Given the description of an element on the screen output the (x, y) to click on. 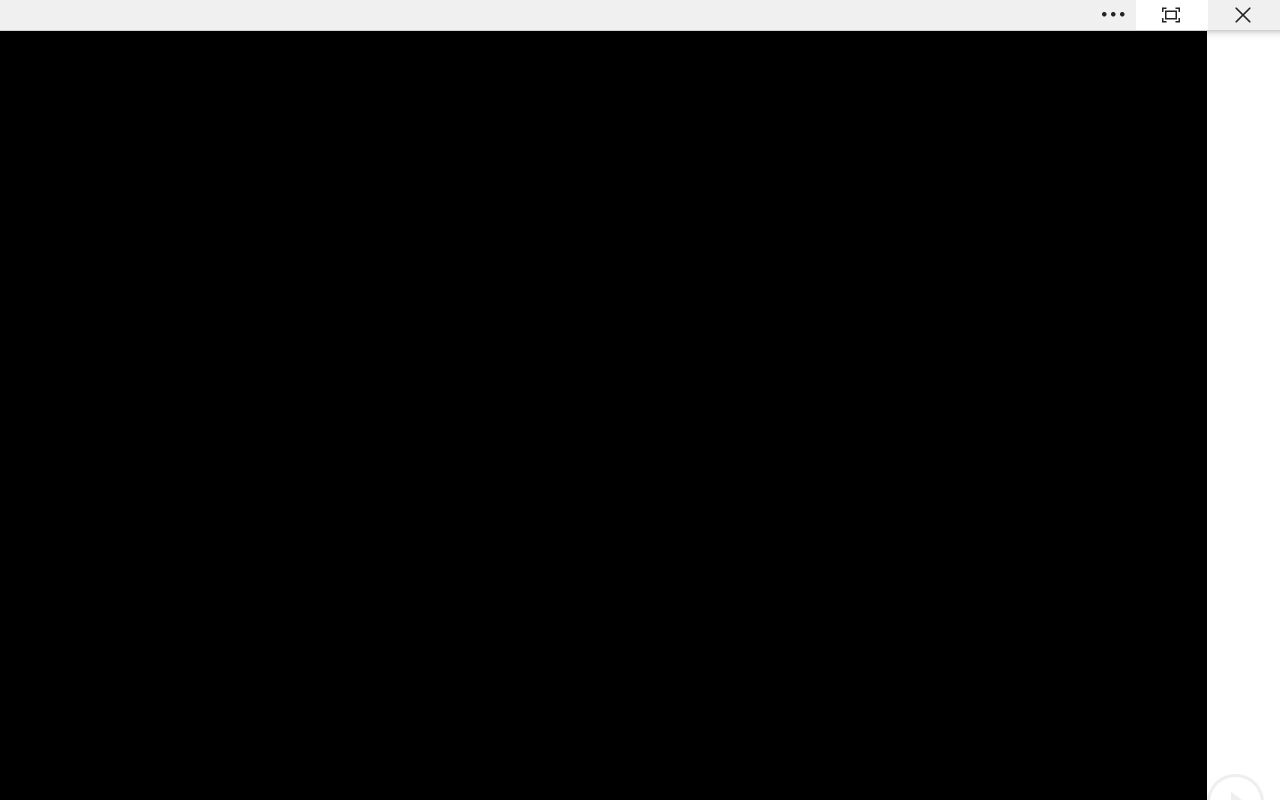
Always Show Reading Toolbar (1172, 15)
